Given the description of an element on the screen output the (x, y) to click on. 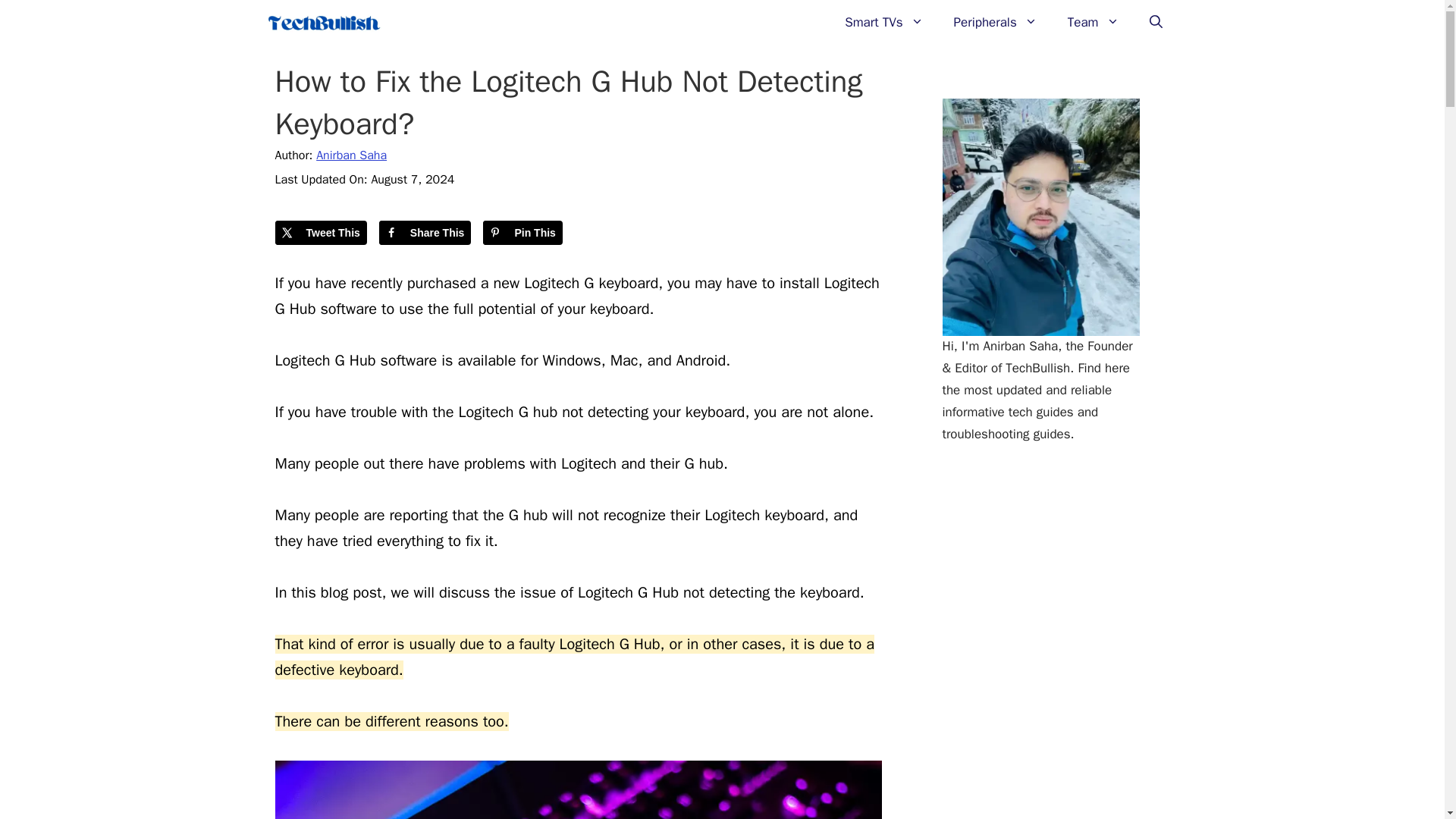
Smart TVs (883, 22)
Share This (424, 232)
Pin This (522, 232)
Share on X (320, 232)
Save to Pinterest (522, 232)
Share on Facebook (424, 232)
Peripherals (995, 22)
Tweet This (320, 232)
Anirban Saha (351, 155)
Team (1093, 22)
